Given the description of an element on the screen output the (x, y) to click on. 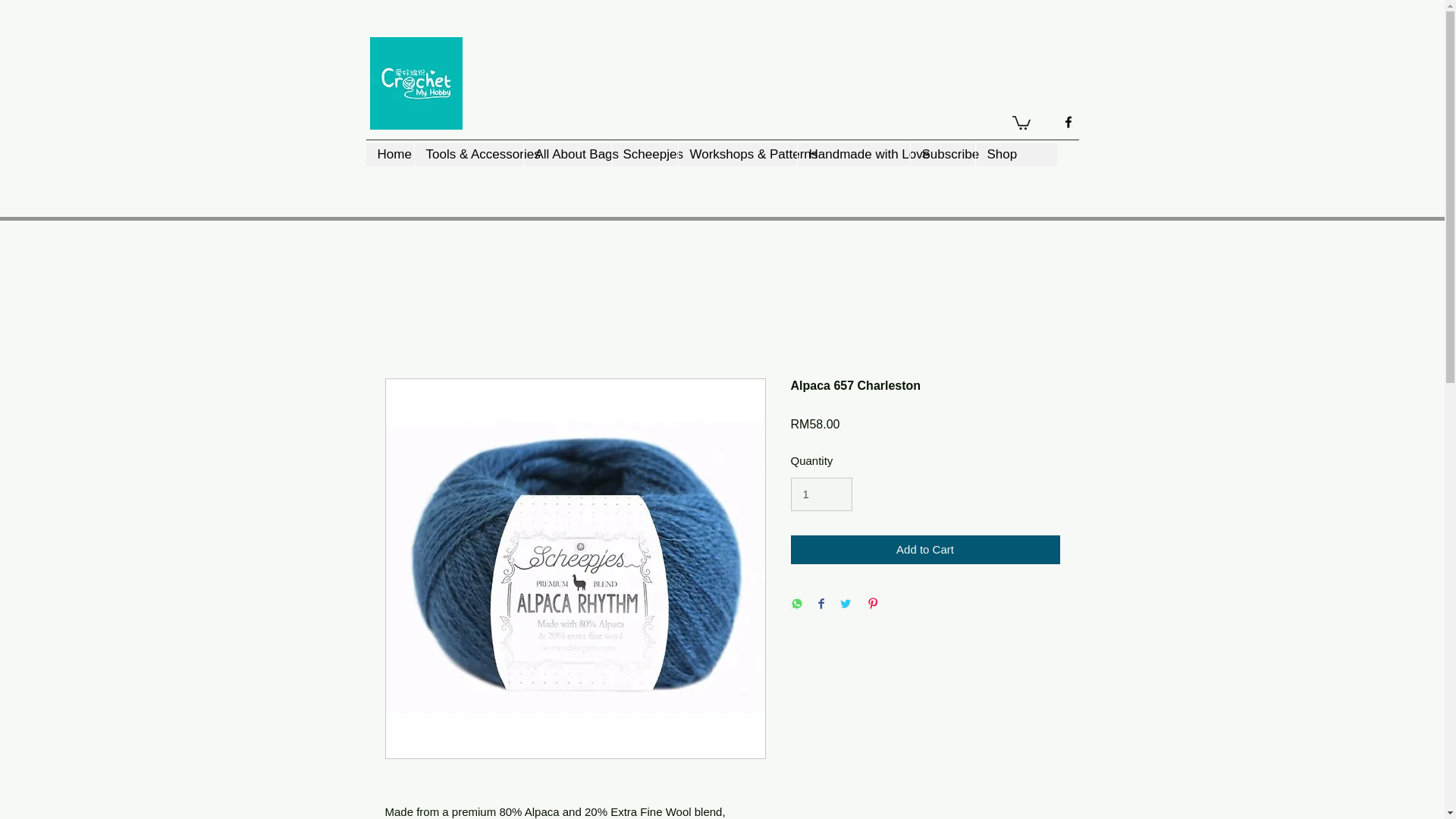
Home (389, 154)
1 (820, 494)
All About Bags (566, 154)
Scheepjes (644, 154)
